Given the description of an element on the screen output the (x, y) to click on. 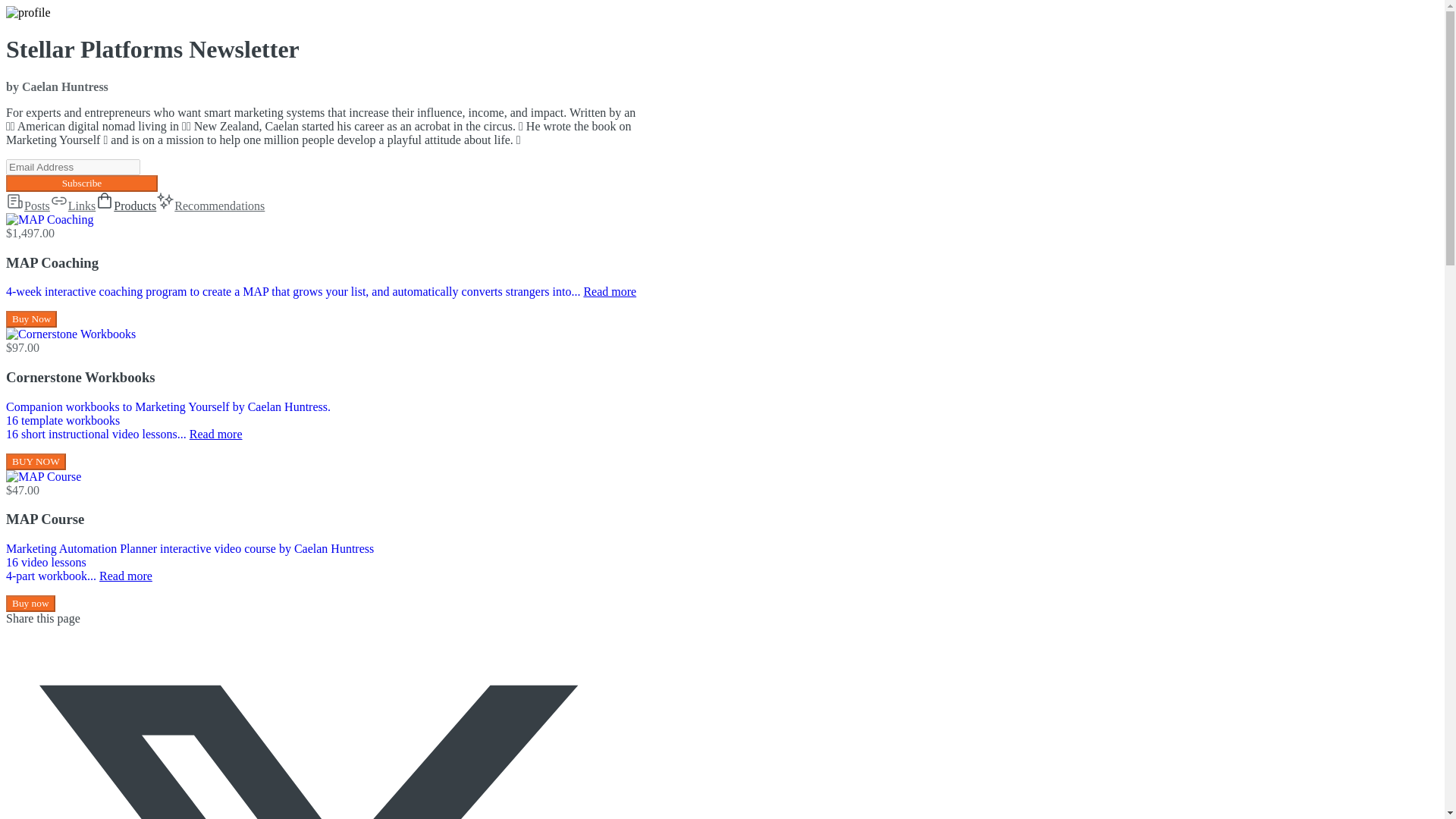
SparkleRecommendations (209, 205)
Buy Now (30, 319)
Sparkle (164, 200)
Read more (216, 433)
LinkLinks (72, 205)
BagProducts (125, 205)
Bag (104, 200)
Newspaper (14, 200)
Buy now (30, 603)
Subscribe (81, 183)
Link (58, 200)
BUY NOW (35, 461)
